Given the description of an element on the screen output the (x, y) to click on. 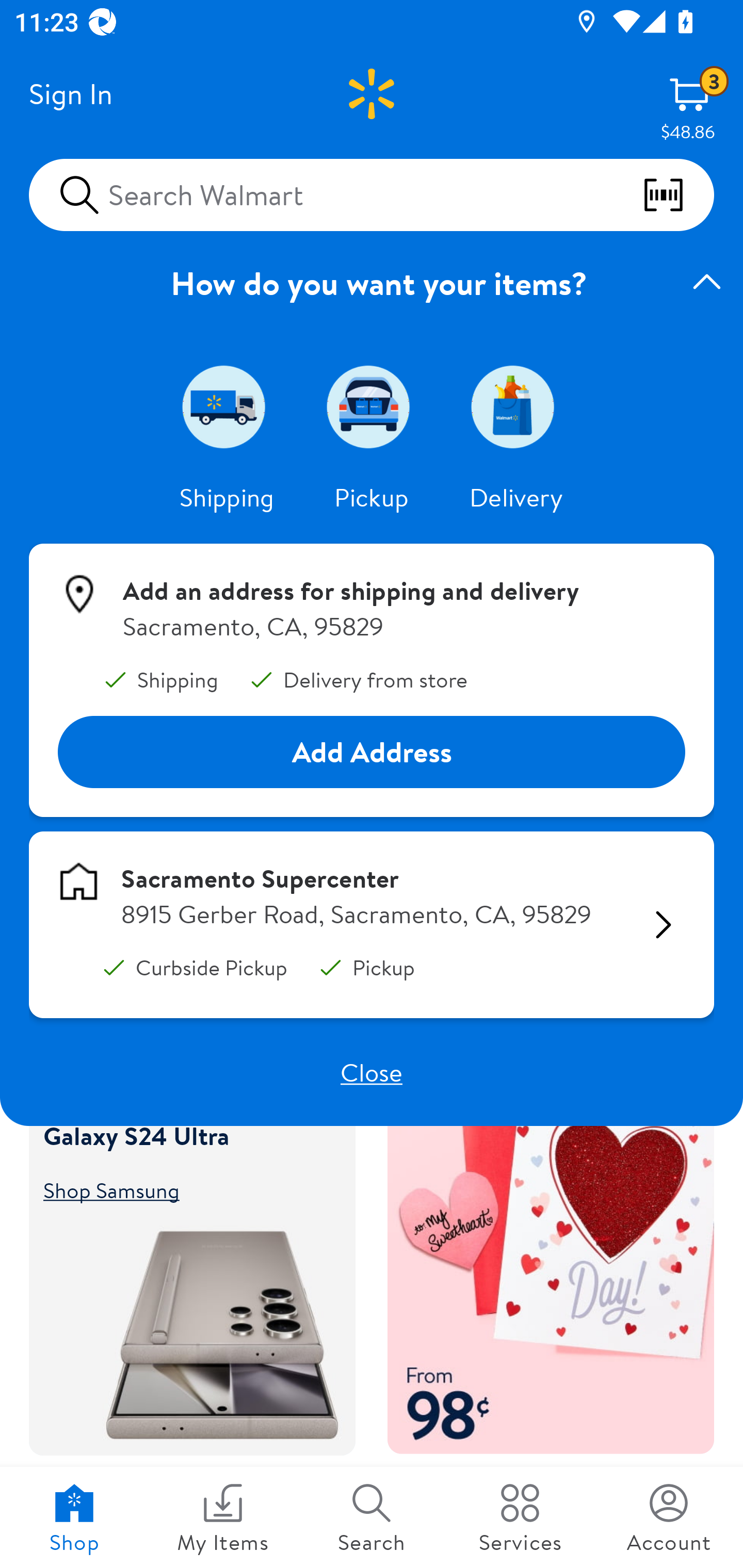
Sign In (70, 93)
Search Walmart scan barcodes qr codes and more (371, 194)
scan barcodes qr codes and more (677, 195)
How do you want your items? expanded (371, 282)
Shipping 1 of 3 (226, 406)
Pickup 2 of 3 (371, 406)
Delivery 3 of 3 (515, 406)
Add Address (371, 752)
Close (371, 1072)
Shop Samsung Shop Samsung Galaxy S24 Ultra (183, 1190)
My Items (222, 1517)
Search (371, 1517)
Services (519, 1517)
Account (668, 1517)
